Given the description of an element on the screen output the (x, y) to click on. 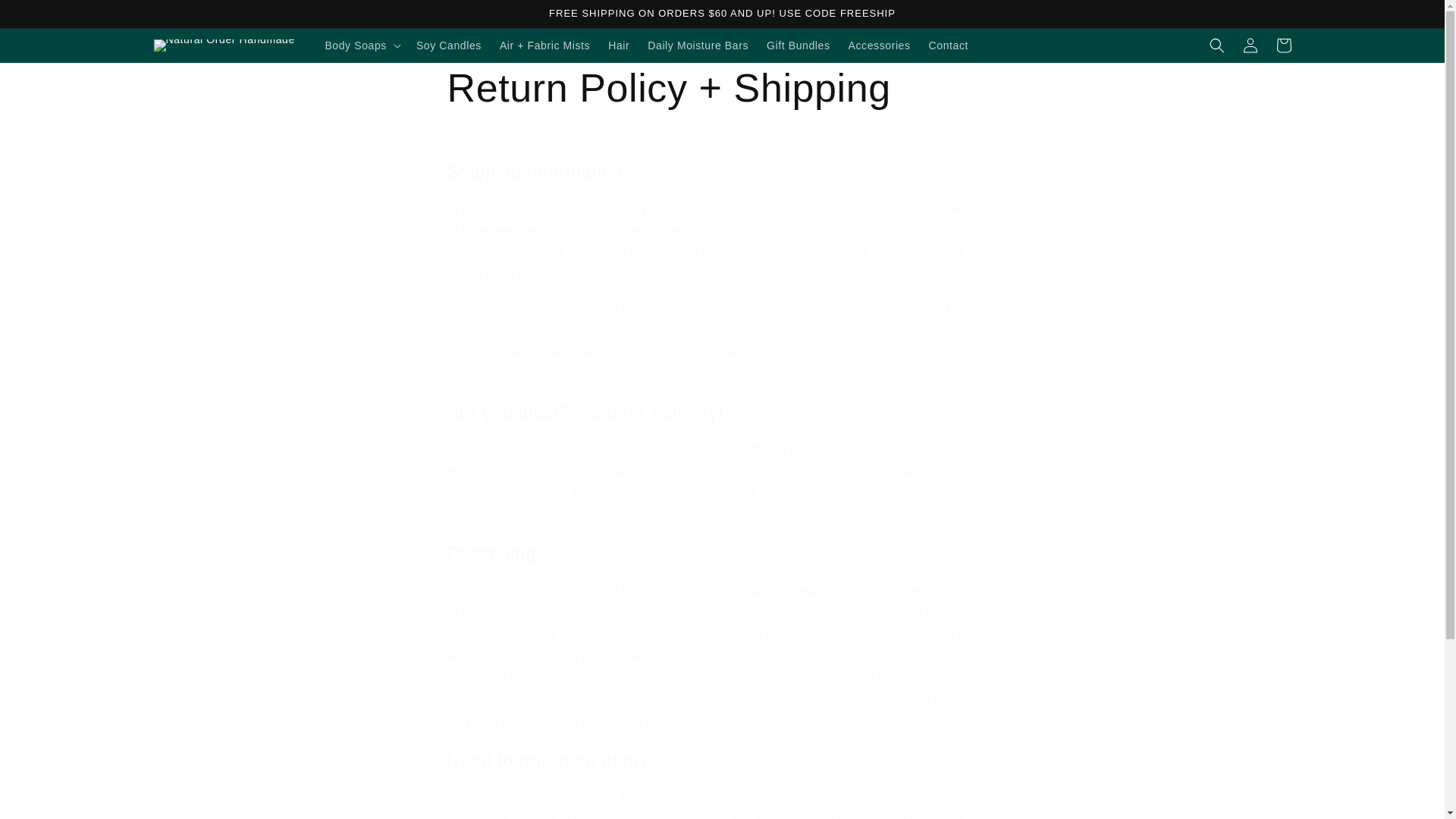
Skip to content (45, 16)
Gift Bundles (797, 45)
Cart (1283, 45)
Daily Moisture Bars (698, 45)
Log in (1249, 45)
Accessories (880, 45)
Hair (618, 45)
Contact (948, 45)
Soy Candles (448, 45)
